Given the description of an element on the screen output the (x, y) to click on. 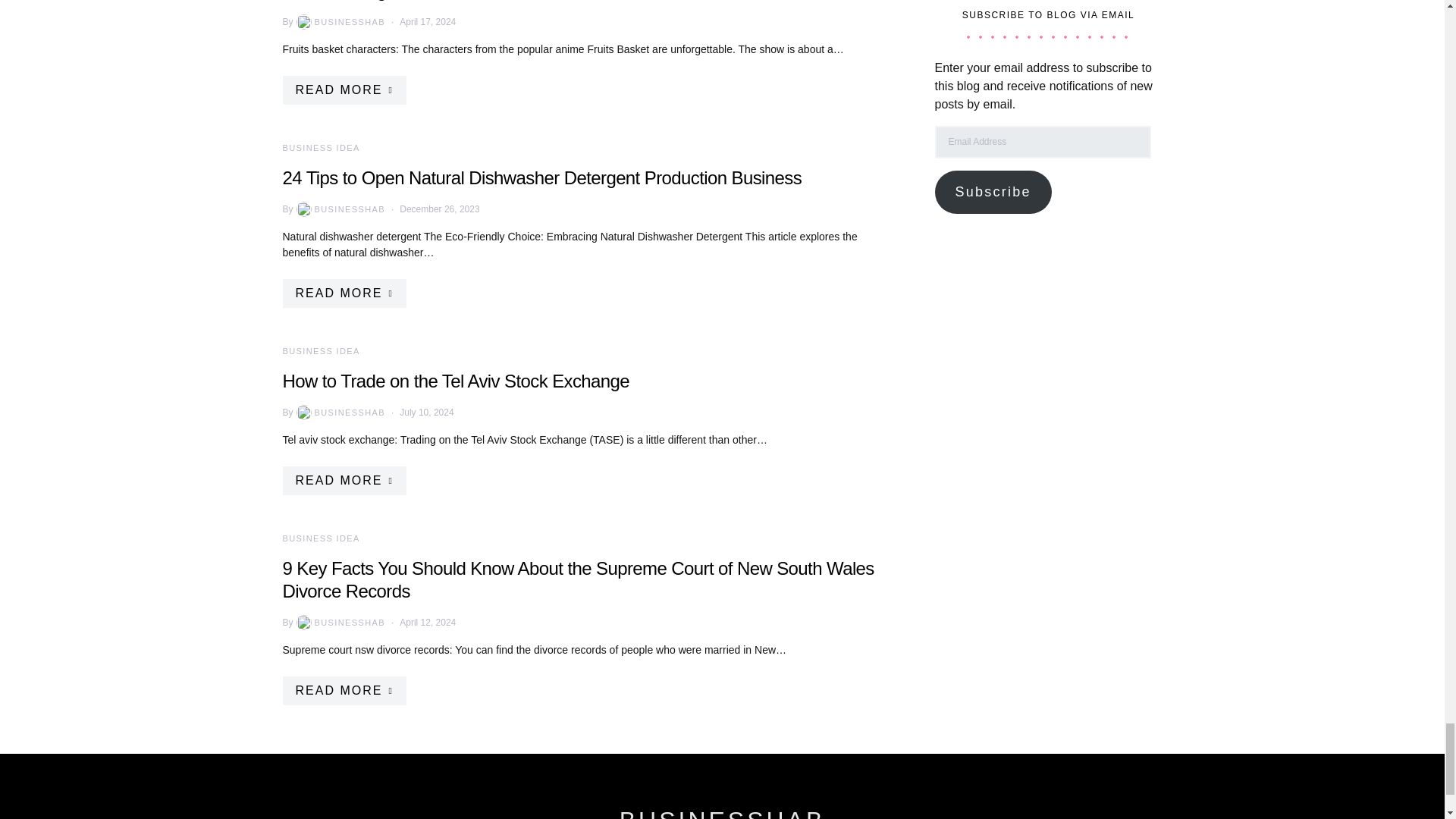
View all posts by BusinessHAB (339, 21)
View all posts by BusinessHAB (339, 209)
